Given the description of an element on the screen output the (x, y) to click on. 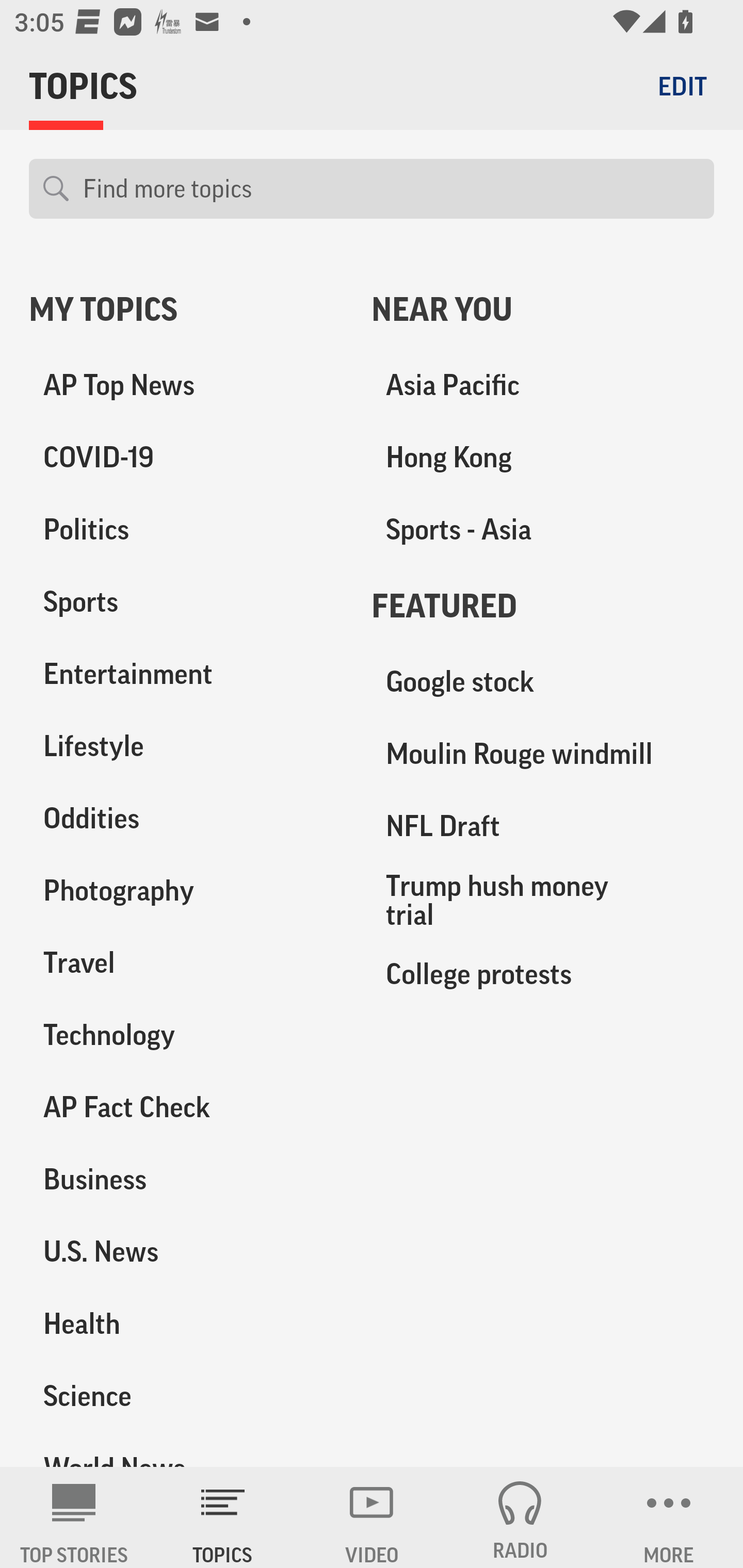
EDIT (682, 86)
Find more topics (391, 188)
AP Top News (185, 385)
Asia Pacific (542, 385)
COVID-19 (185, 457)
Hong Kong (542, 457)
Politics (185, 529)
Sports - Asia (542, 529)
Sports (185, 602)
Entertainment (185, 674)
Google stock (542, 682)
Lifestyle (185, 746)
Moulin Rouge windmill (542, 754)
Oddities (185, 818)
NFL Draft (542, 826)
Photography (185, 890)
Trump hush money trial (542, 899)
Travel (185, 962)
College protests (542, 973)
Technology (185, 1034)
AP Fact Check (185, 1106)
Business (185, 1179)
U.S. News (185, 1251)
Health (185, 1323)
Science (185, 1395)
AP News TOP STORIES (74, 1517)
TOPICS (222, 1517)
VIDEO (371, 1517)
RADIO (519, 1517)
MORE (668, 1517)
